Given the description of an element on the screen output the (x, y) to click on. 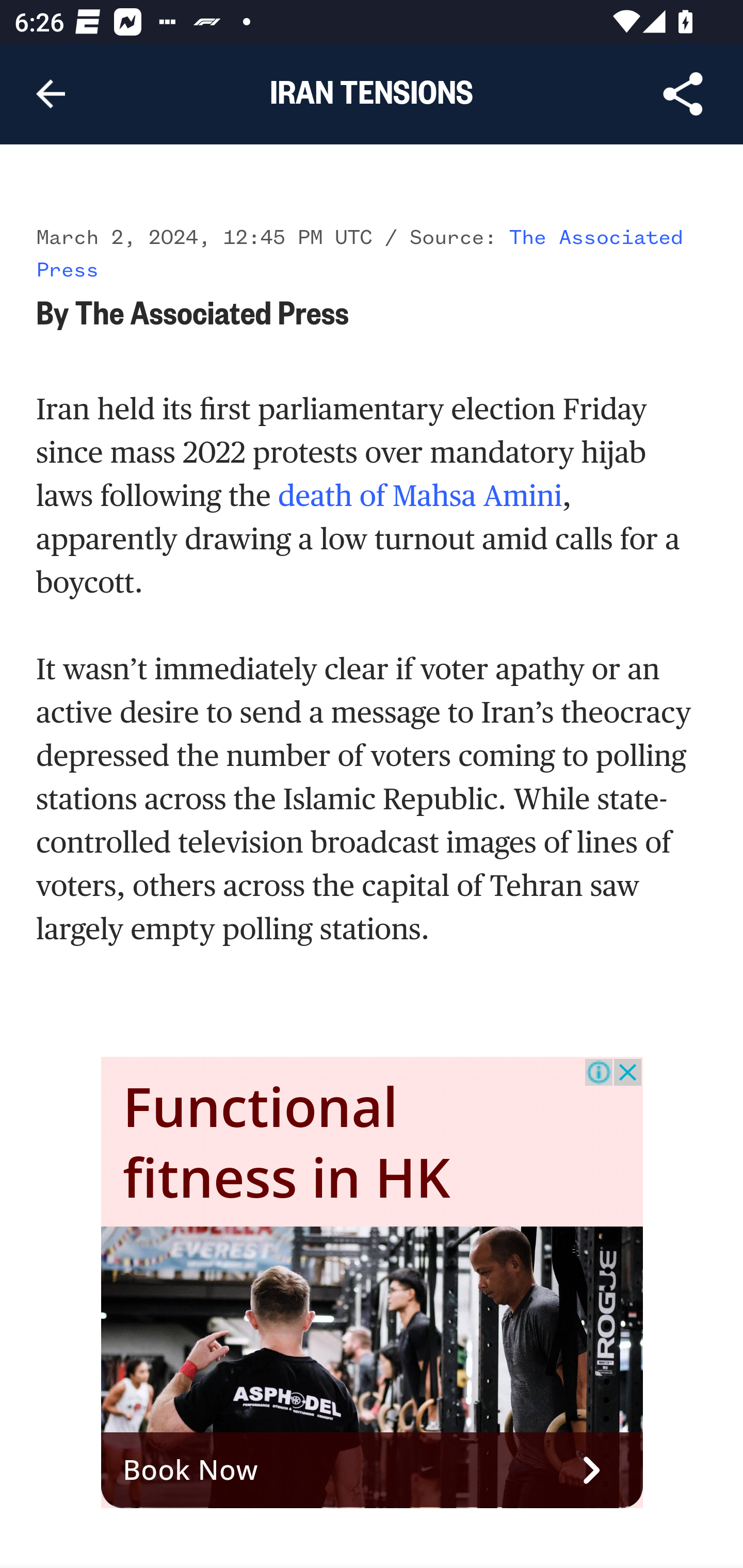
Navigate up (50, 93)
Share Article, button (683, 94)
The Associated Press (360, 255)
death of Mahsa Amini (419, 496)
Functional fitness in HK Functional fitness in HK (286, 1142)
Book Now (372, 1470)
